Given the description of an element on the screen output the (x, y) to click on. 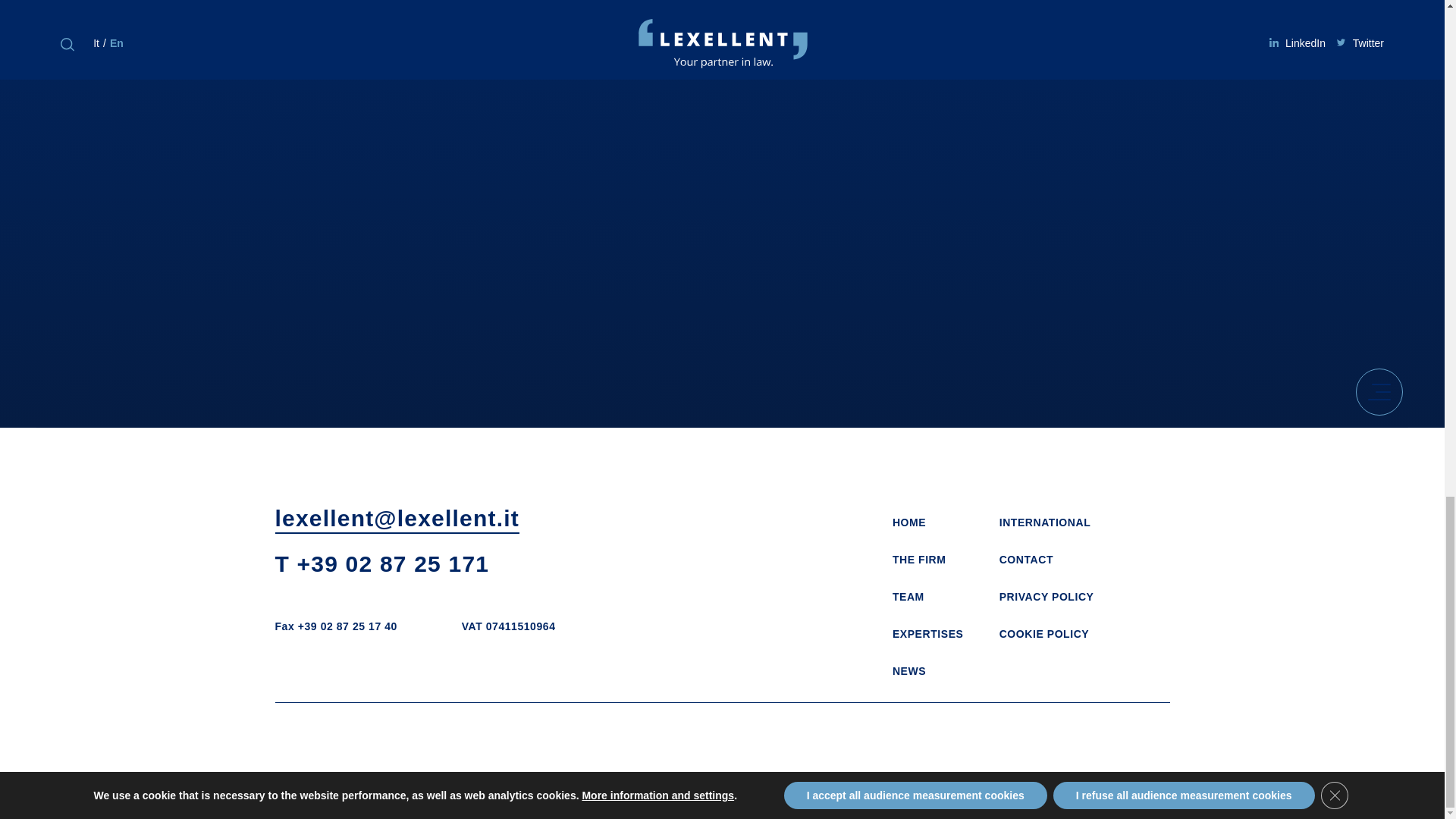
VAT 07411510964 (508, 625)
